Given the description of an element on the screen output the (x, y) to click on. 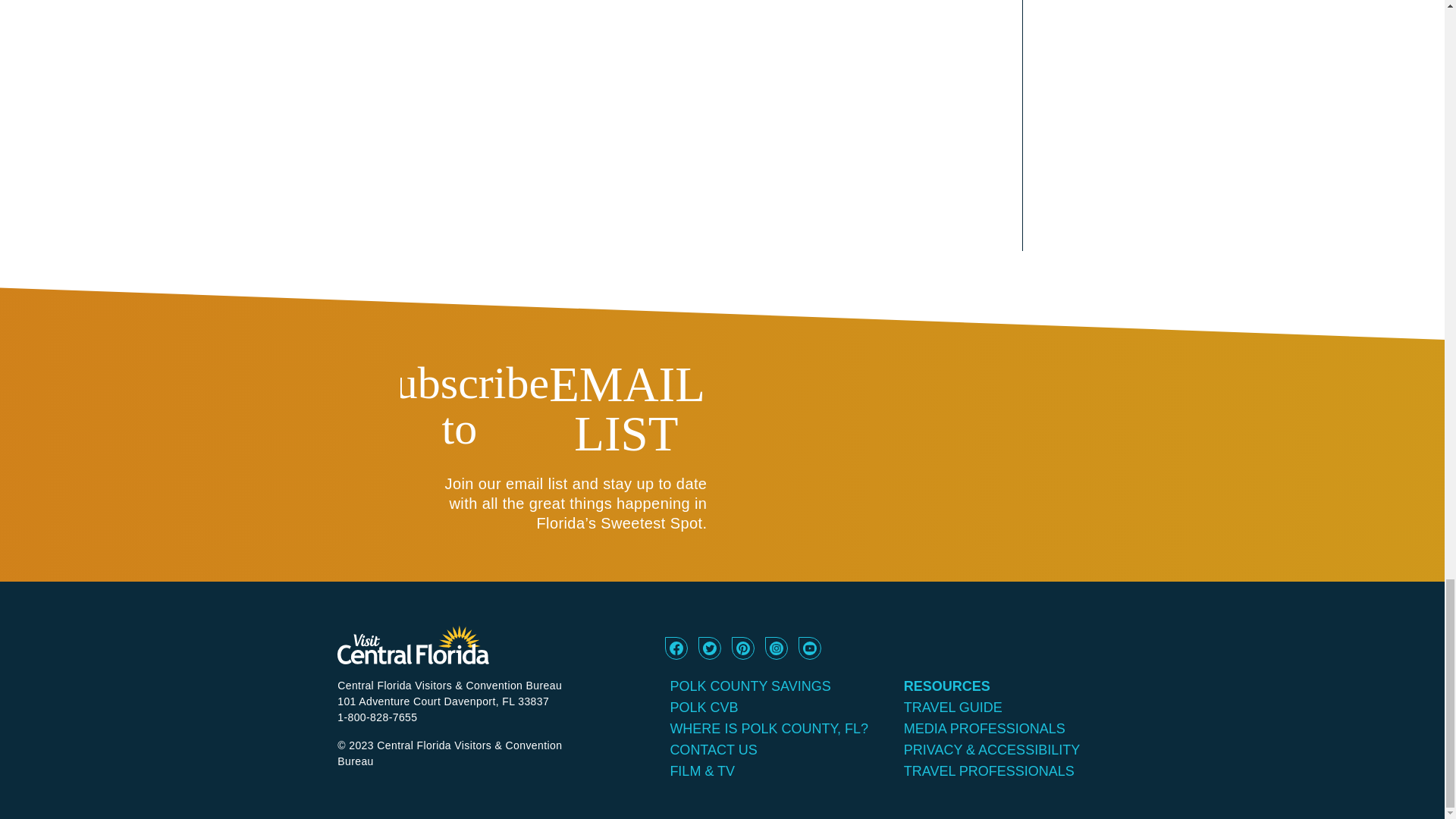
Instagram (776, 655)
Twitter (709, 655)
Pinterest (743, 655)
Facebook (676, 655)
YouTube (809, 655)
